Given the description of an element on the screen output the (x, y) to click on. 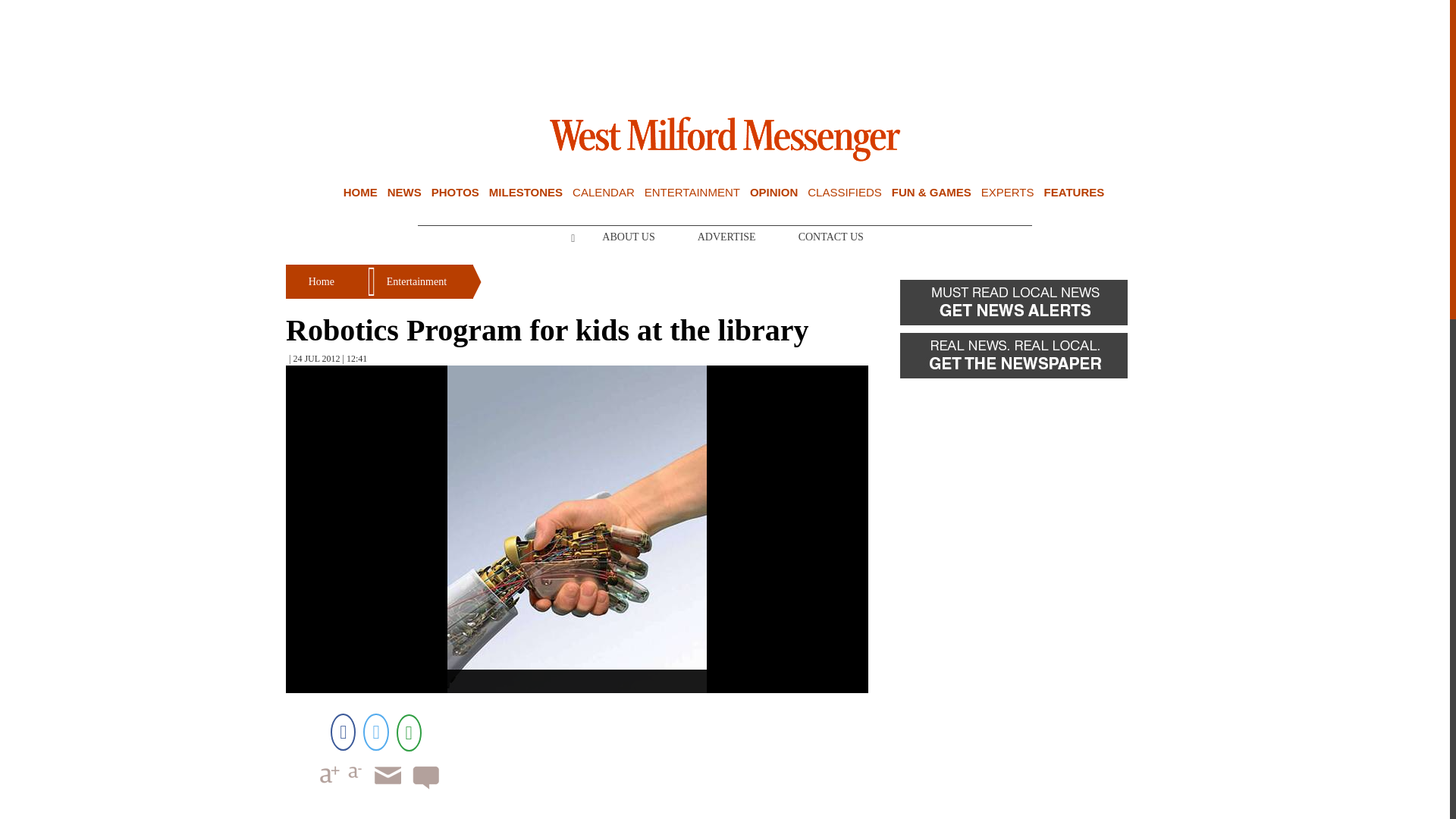
HOME (360, 192)
CLASSIFIEDS (845, 192)
3rd party ad content (724, 49)
NEWS (404, 192)
PHOTOS (454, 192)
OPINION (773, 192)
MILESTONES (525, 192)
ENTERTAINMENT (692, 192)
EXPERTS (1007, 192)
CALENDAR (603, 192)
